Given the description of an element on the screen output the (x, y) to click on. 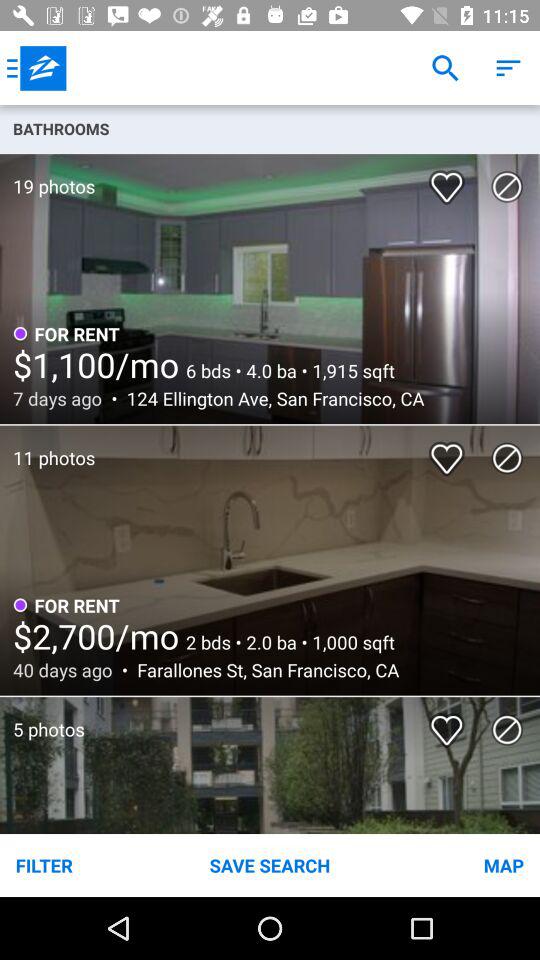
scroll to the save search icon (270, 864)
